Given the description of an element on the screen output the (x, y) to click on. 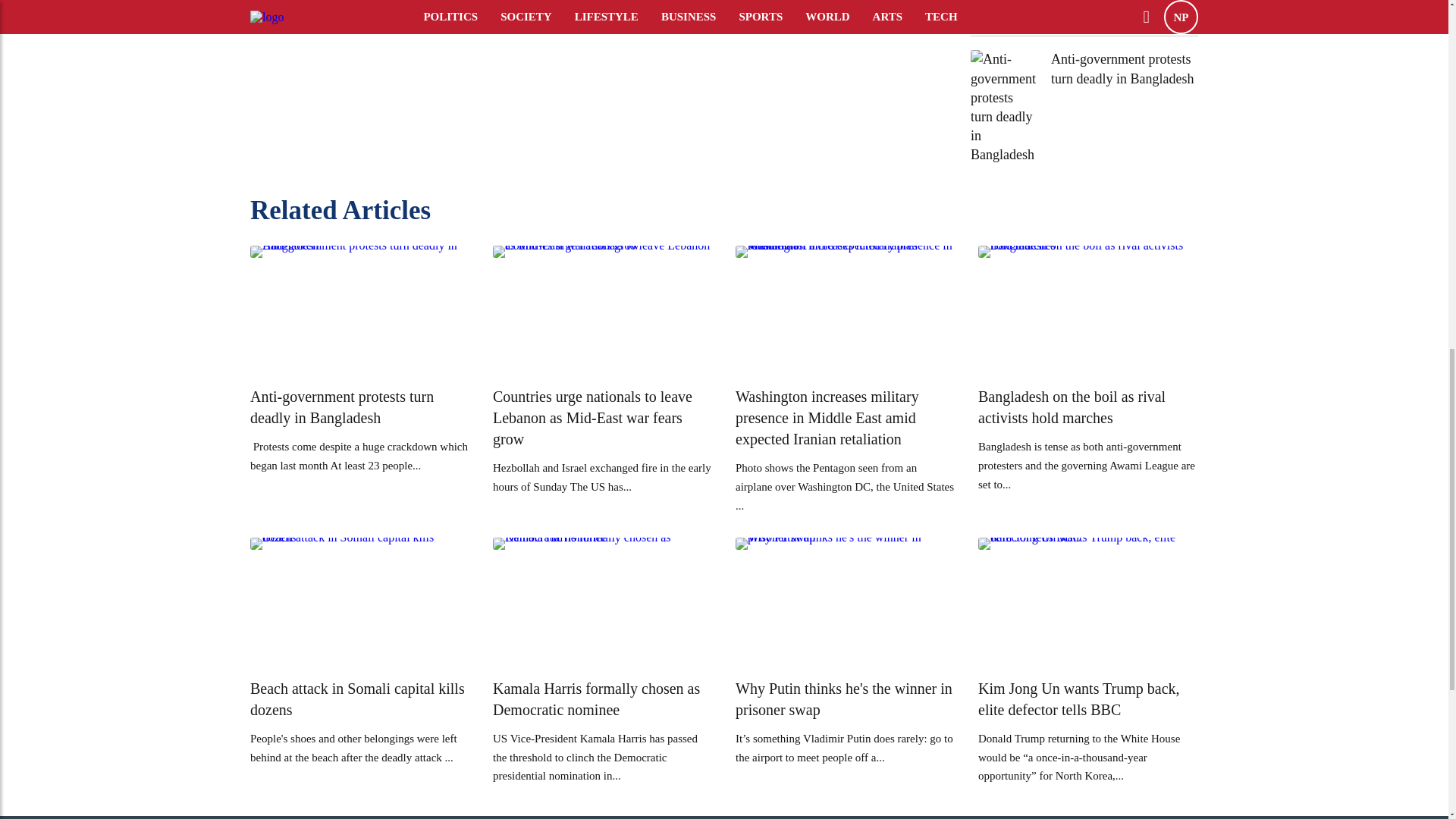
Anti-government protests turn deadly in Bangladesh (1124, 68)
